Given the description of an element on the screen output the (x, y) to click on. 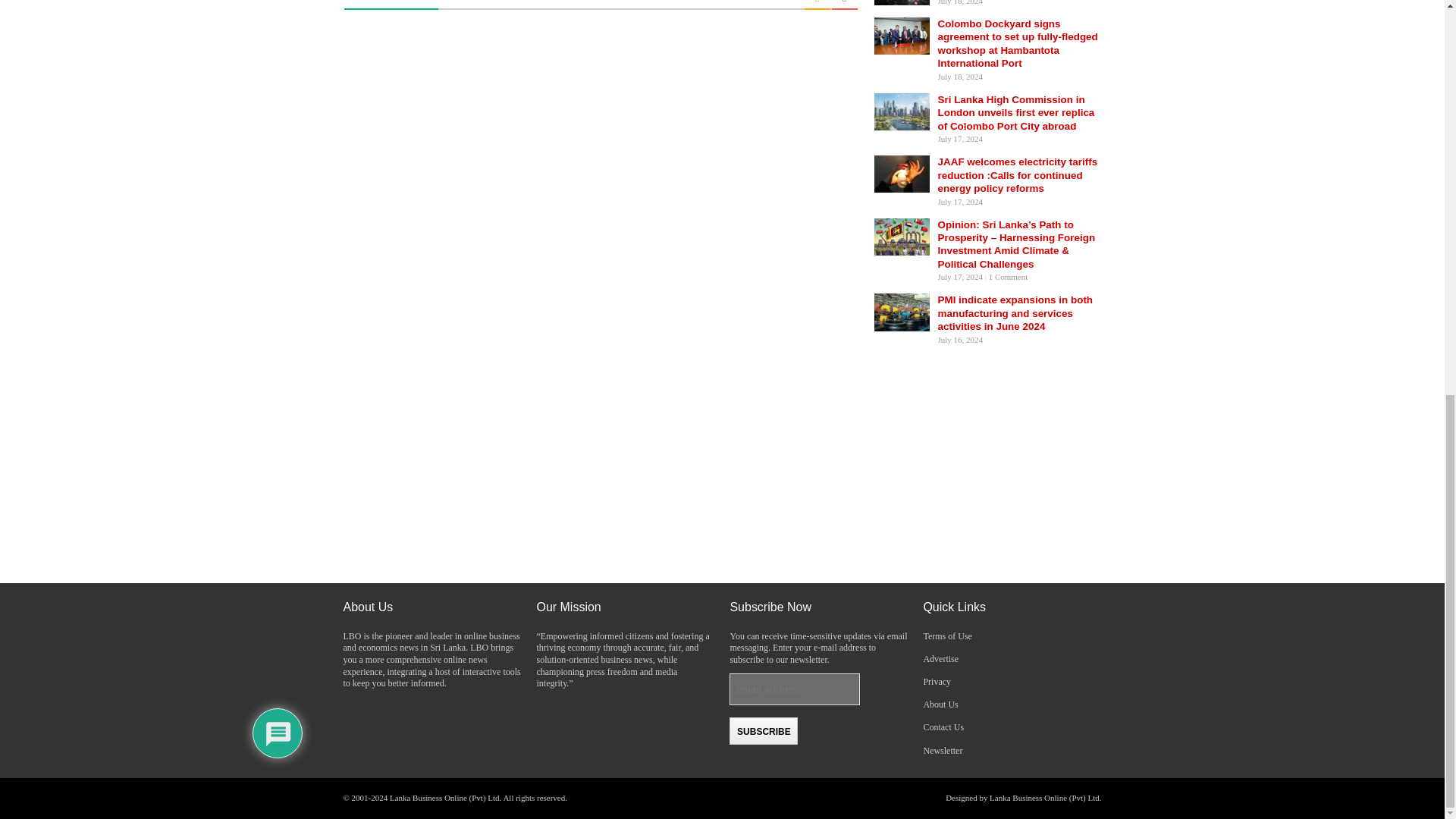
Subscribe (763, 730)
